Given the description of an element on the screen output the (x, y) to click on. 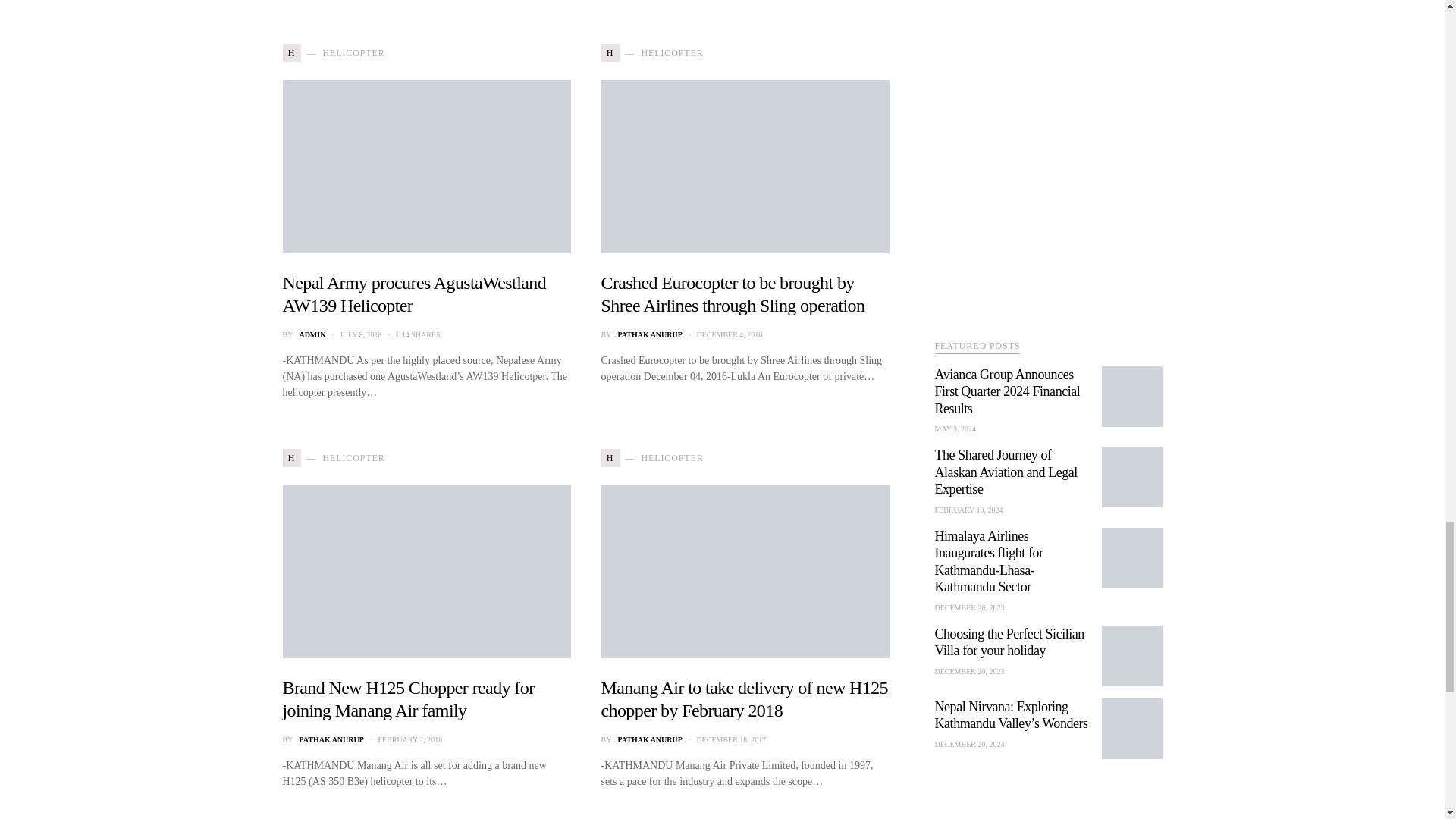
View all posts by Pathak Anurup (649, 739)
View all posts by Pathak Anurup (330, 739)
View all posts by Pathak Anurup (649, 334)
View all posts by Admin (311, 334)
